Given the description of an element on the screen output the (x, y) to click on. 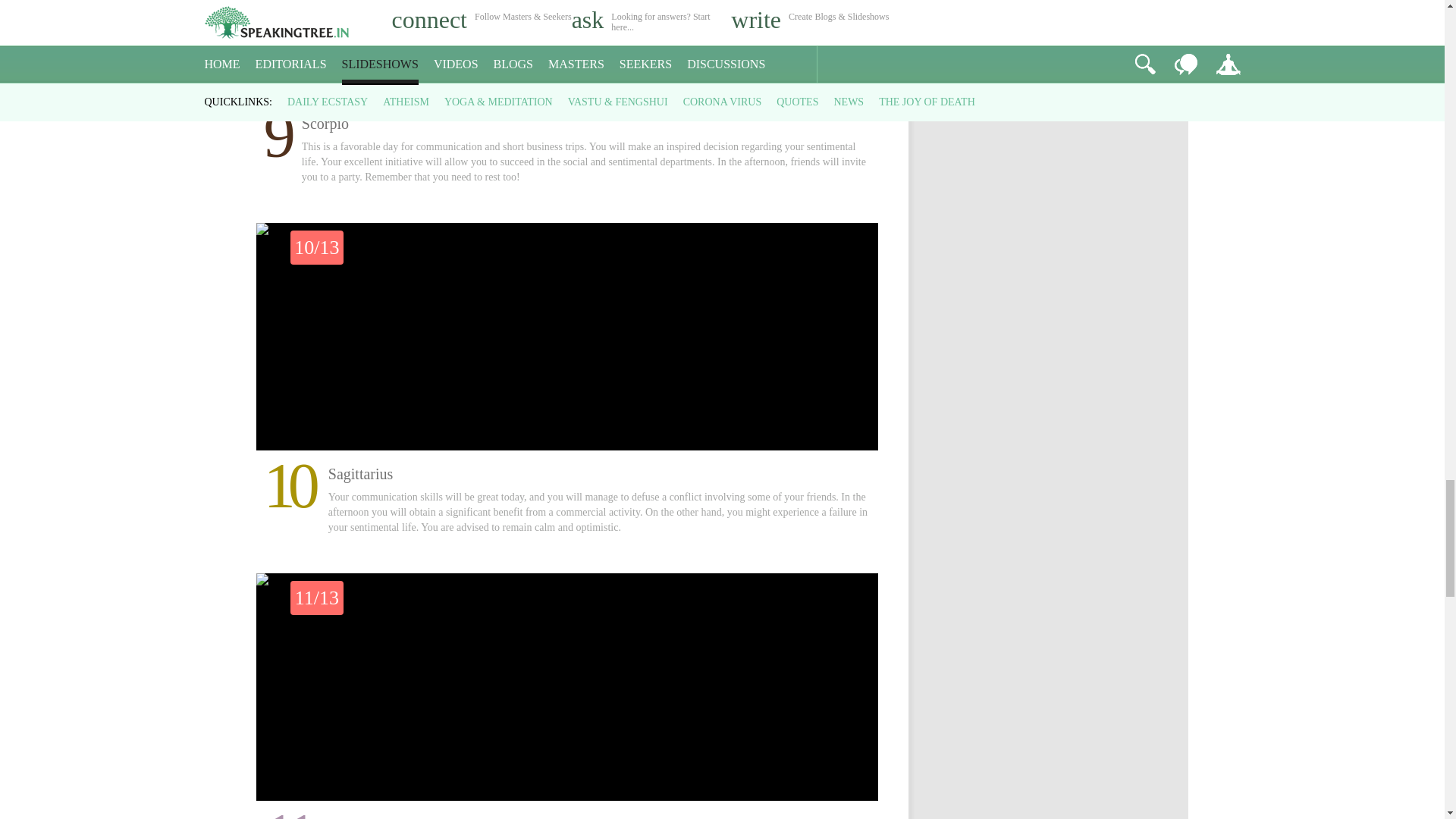
Scorpio (567, 49)
